Given the description of an element on the screen output the (x, y) to click on. 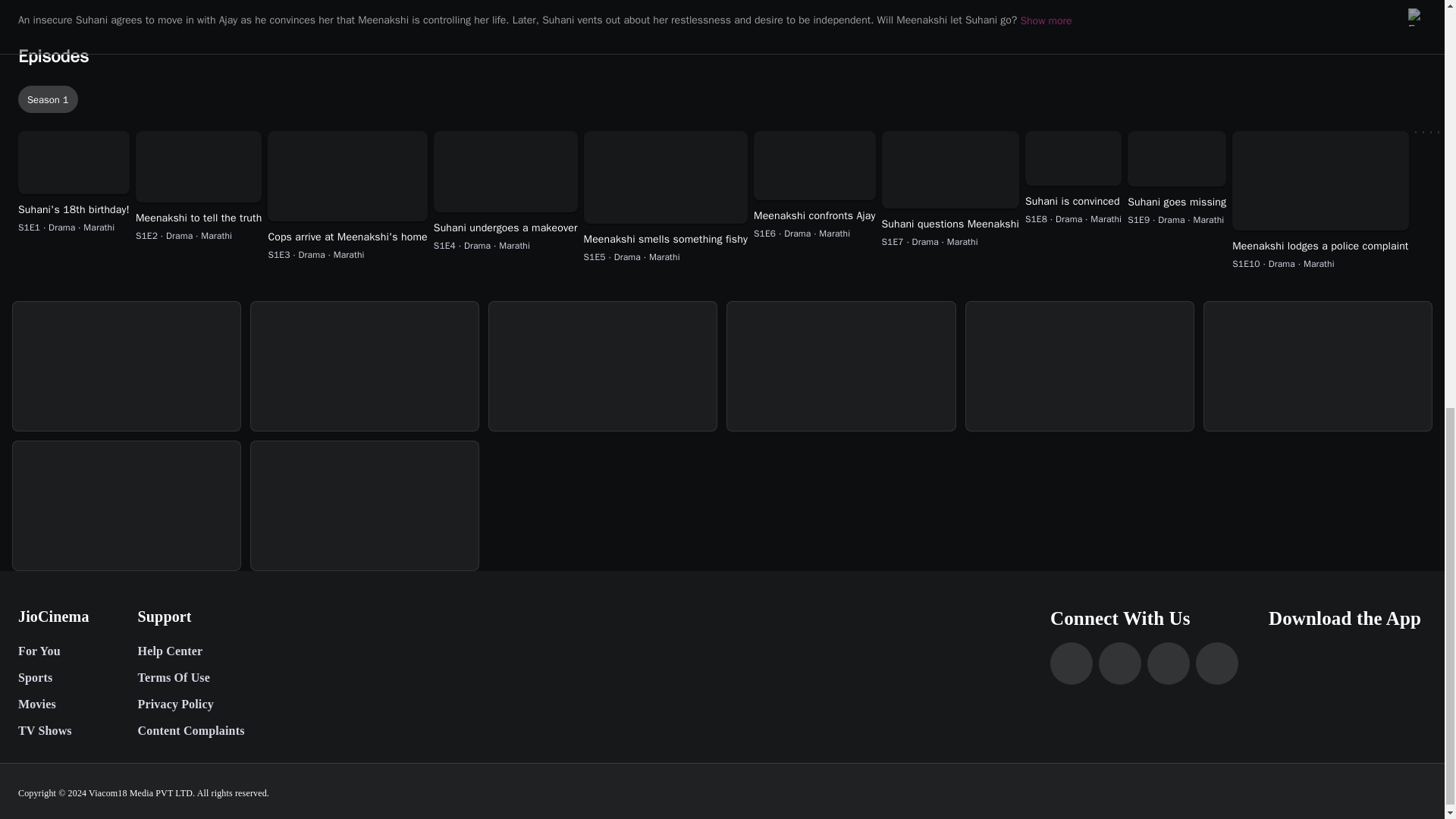
Cops arrive at Meenakshi's home (346, 237)
Meenakshi smells something fishy (665, 239)
Sports (52, 677)
For You (52, 650)
Suhani's 18th birthday! (73, 209)
Suhani questions Meenakshi (948, 224)
Season 1 (47, 99)
Suhani undergoes a makeover (505, 227)
Movies (52, 703)
Meenakshi confronts Ajay (814, 215)
